Given the description of an element on the screen output the (x, y) to click on. 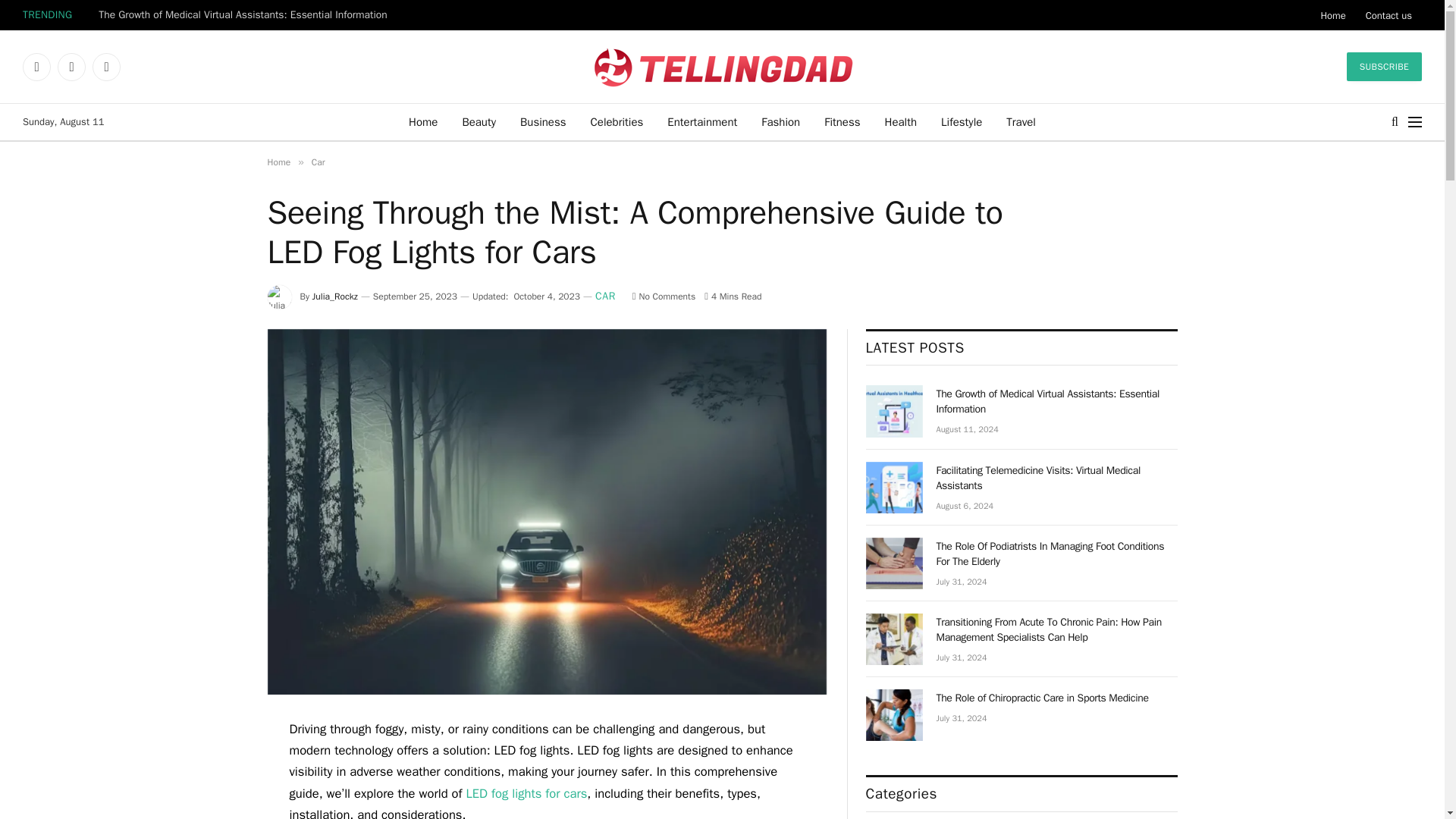
Tellingdad.com (722, 66)
Lifestyle (961, 122)
Travel (1021, 122)
Business (543, 122)
Home (422, 122)
Contact us (1388, 15)
Car (317, 162)
Facebook (36, 67)
